Given the description of an element on the screen output the (x, y) to click on. 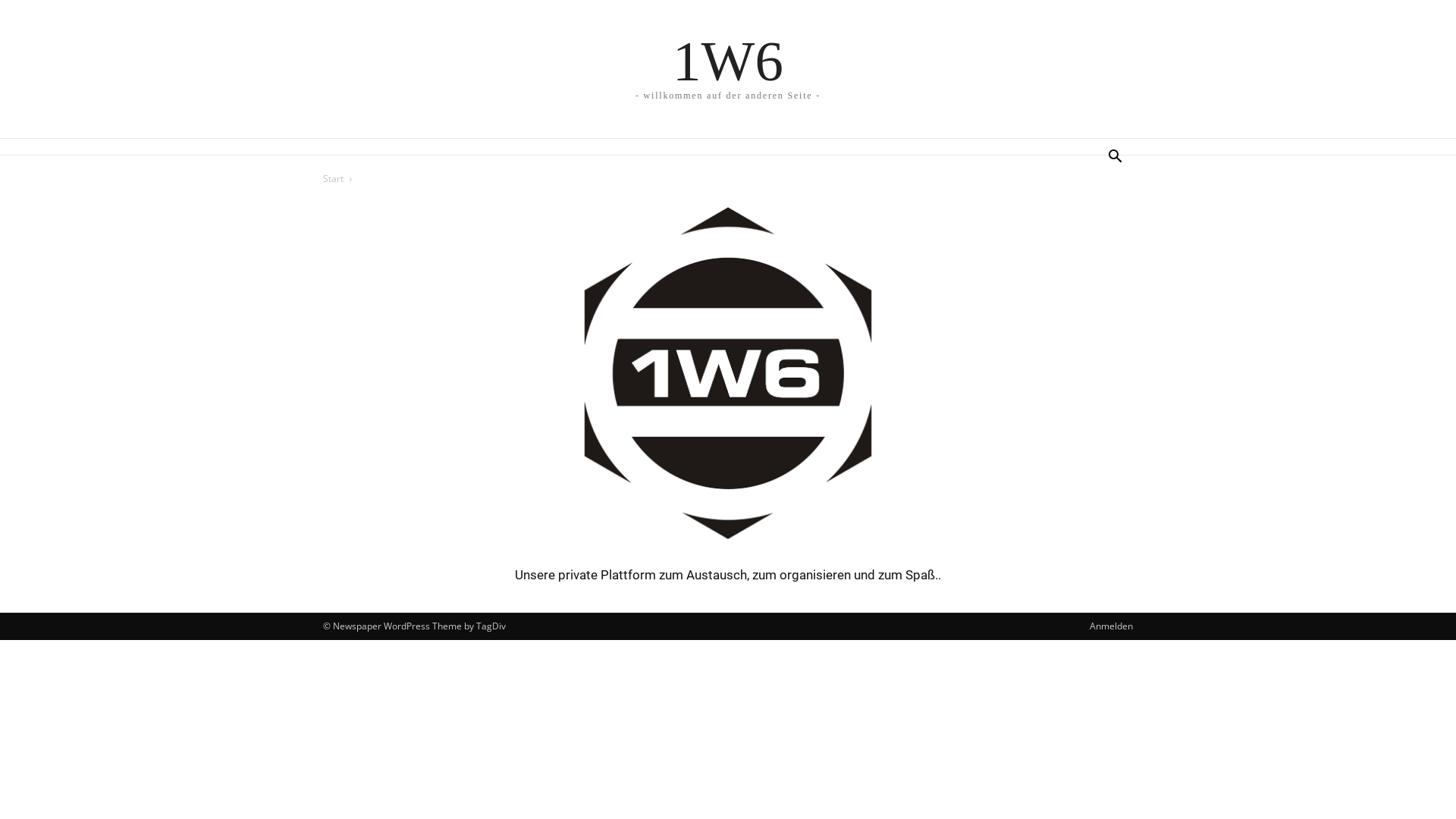
Anmelden Element type: text (1110, 626)
Start Element type: text (333, 178)
1W6 Element type: text (727, 60)
Suche Element type: text (1091, 217)
